Given the description of an element on the screen output the (x, y) to click on. 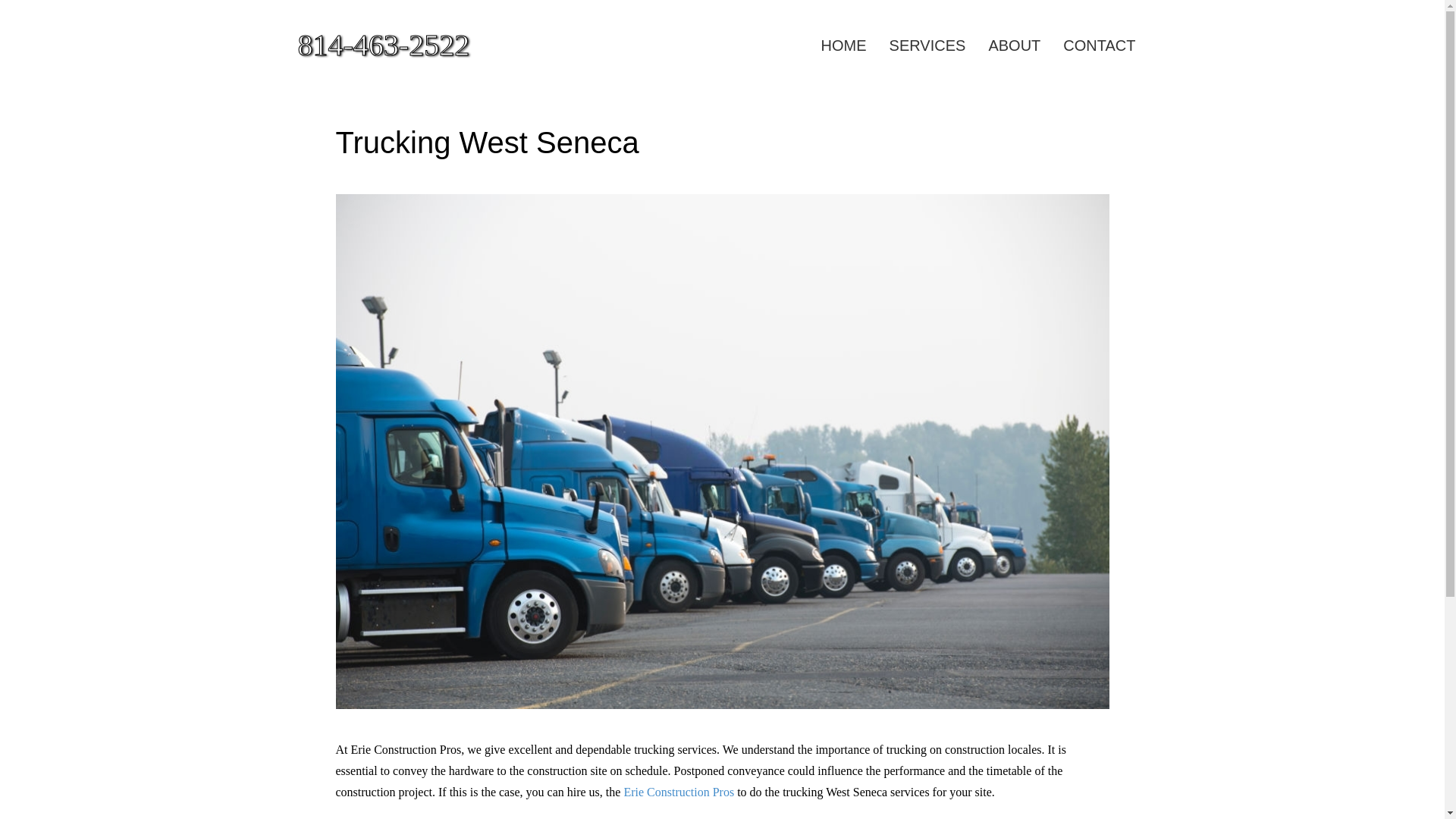
ABOUT (1013, 45)
Erie Construction Pros (678, 791)
SERVICES (926, 45)
CONTACT (1099, 45)
HOME (843, 45)
814-463-2522 (433, 44)
